Given the description of an element on the screen output the (x, y) to click on. 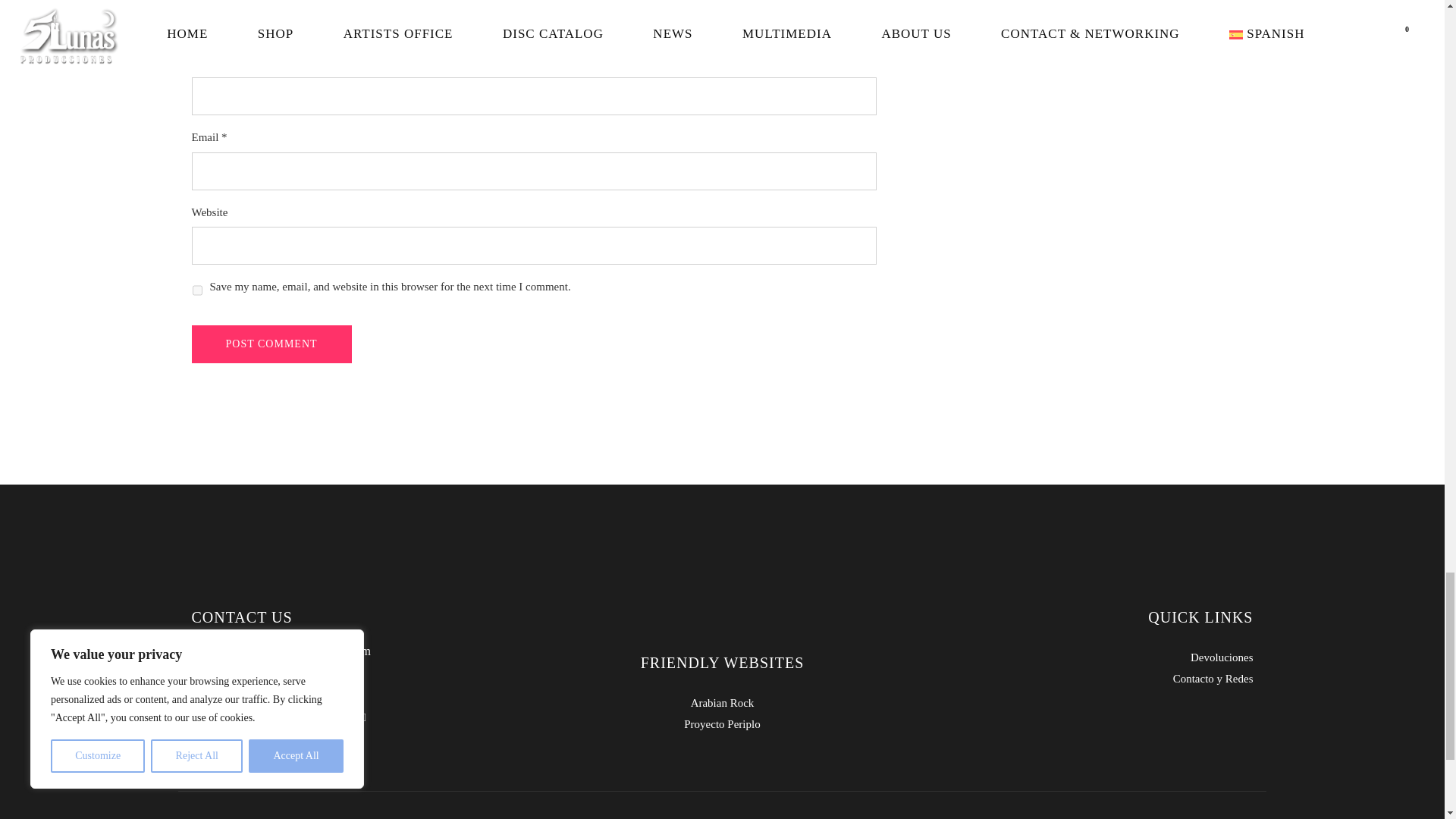
Post Comment (270, 344)
